Given the description of an element on the screen output the (x, y) to click on. 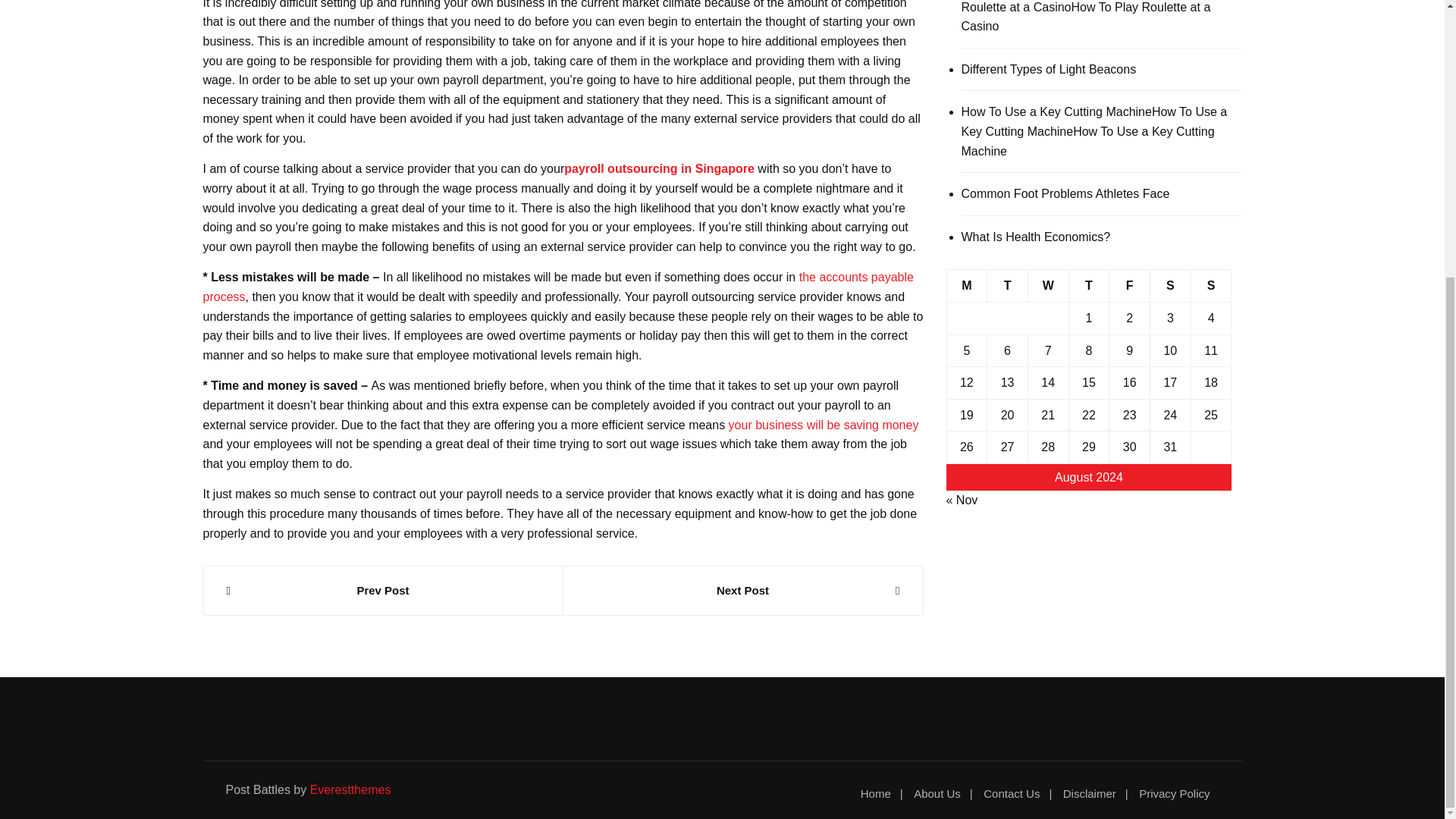
Monday (966, 286)
Tuesday (1007, 286)
Thursday (1088, 286)
Saturday (1170, 286)
Wednesday (1047, 286)
Sunday (1211, 286)
Friday (1129, 286)
